Given the description of an element on the screen output the (x, y) to click on. 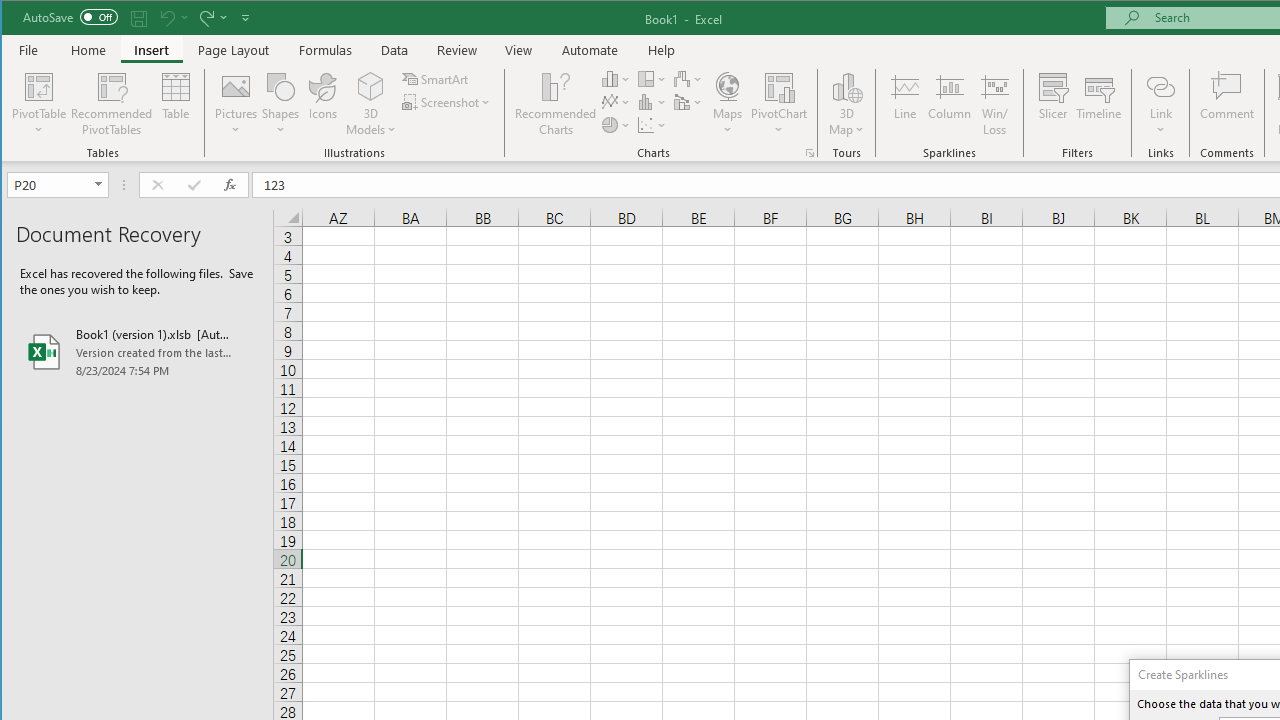
Insert Combo Chart (688, 101)
3D Models (371, 104)
3D Map (846, 104)
3D Models (371, 86)
Slicer... (1052, 104)
Insert Hierarchy Chart (652, 78)
Timeline (1098, 104)
Insert Line or Area Chart (616, 101)
